Given the description of an element on the screen output the (x, y) to click on. 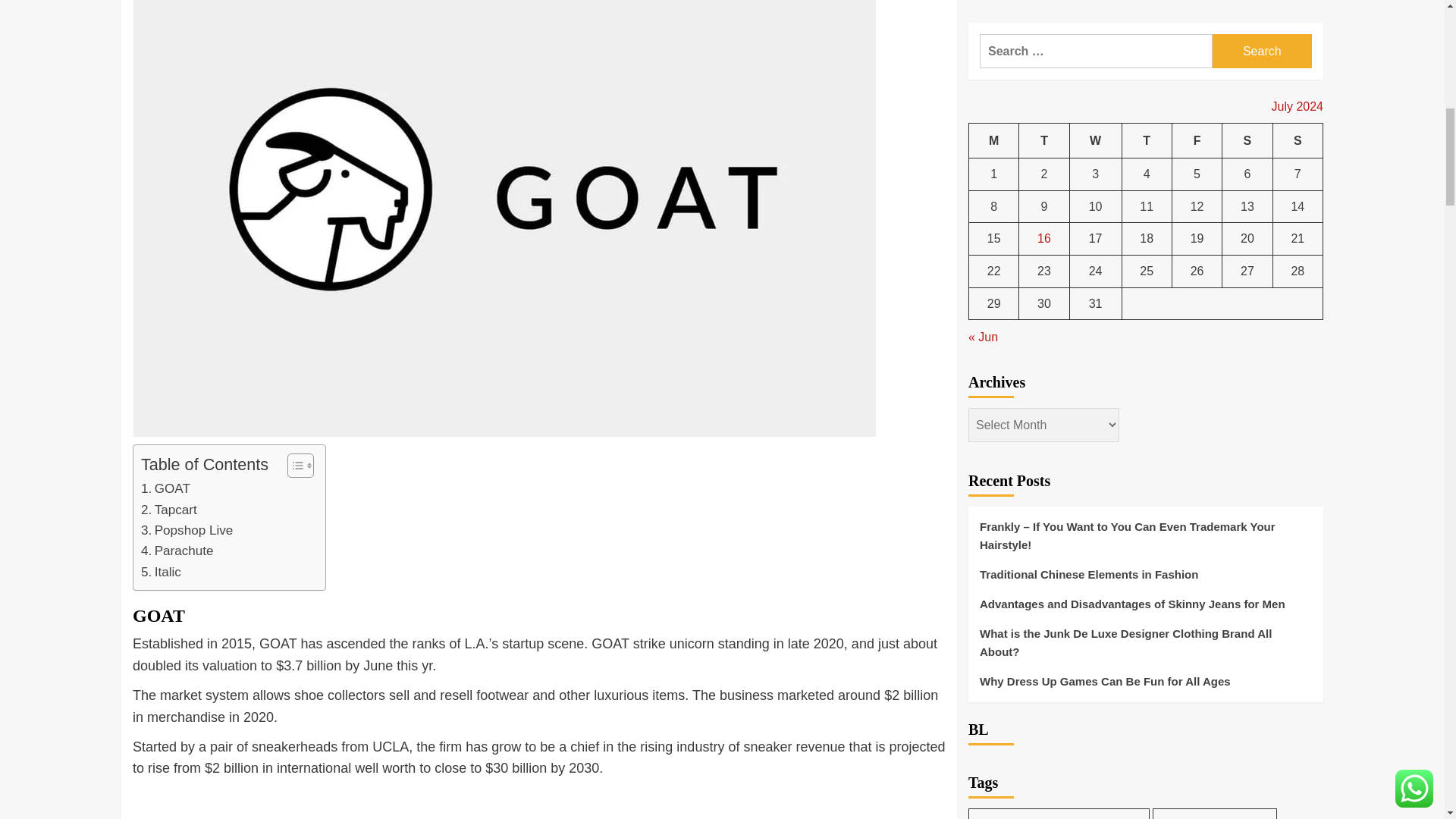
Italic (186, 530)
Parachute (160, 571)
Popshop Live (177, 550)
Tapcart (160, 571)
GOAT (177, 550)
